Given the description of an element on the screen output the (x, y) to click on. 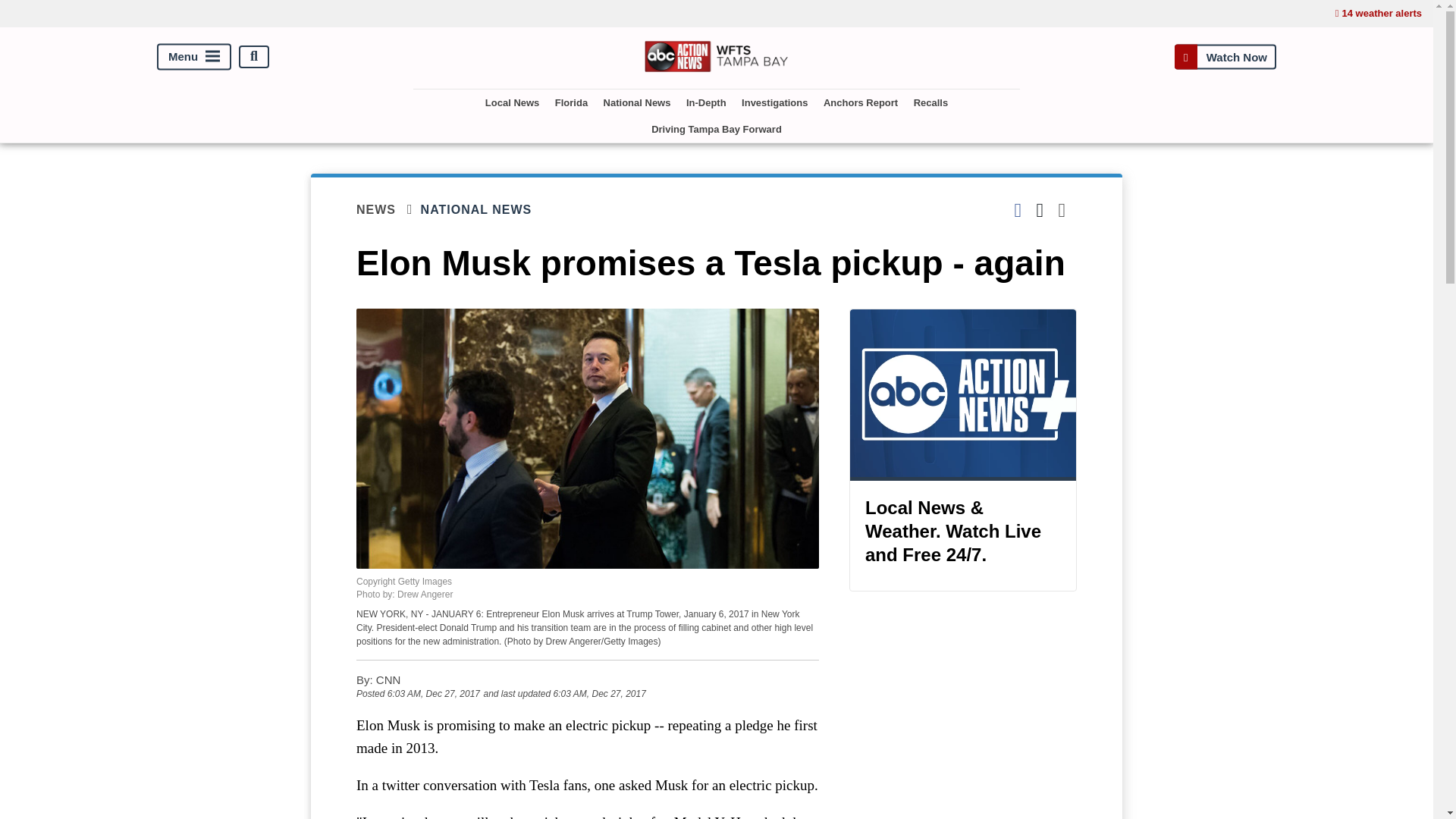
Menu (194, 56)
Watch Now (1224, 56)
